Given the description of an element on the screen output the (x, y) to click on. 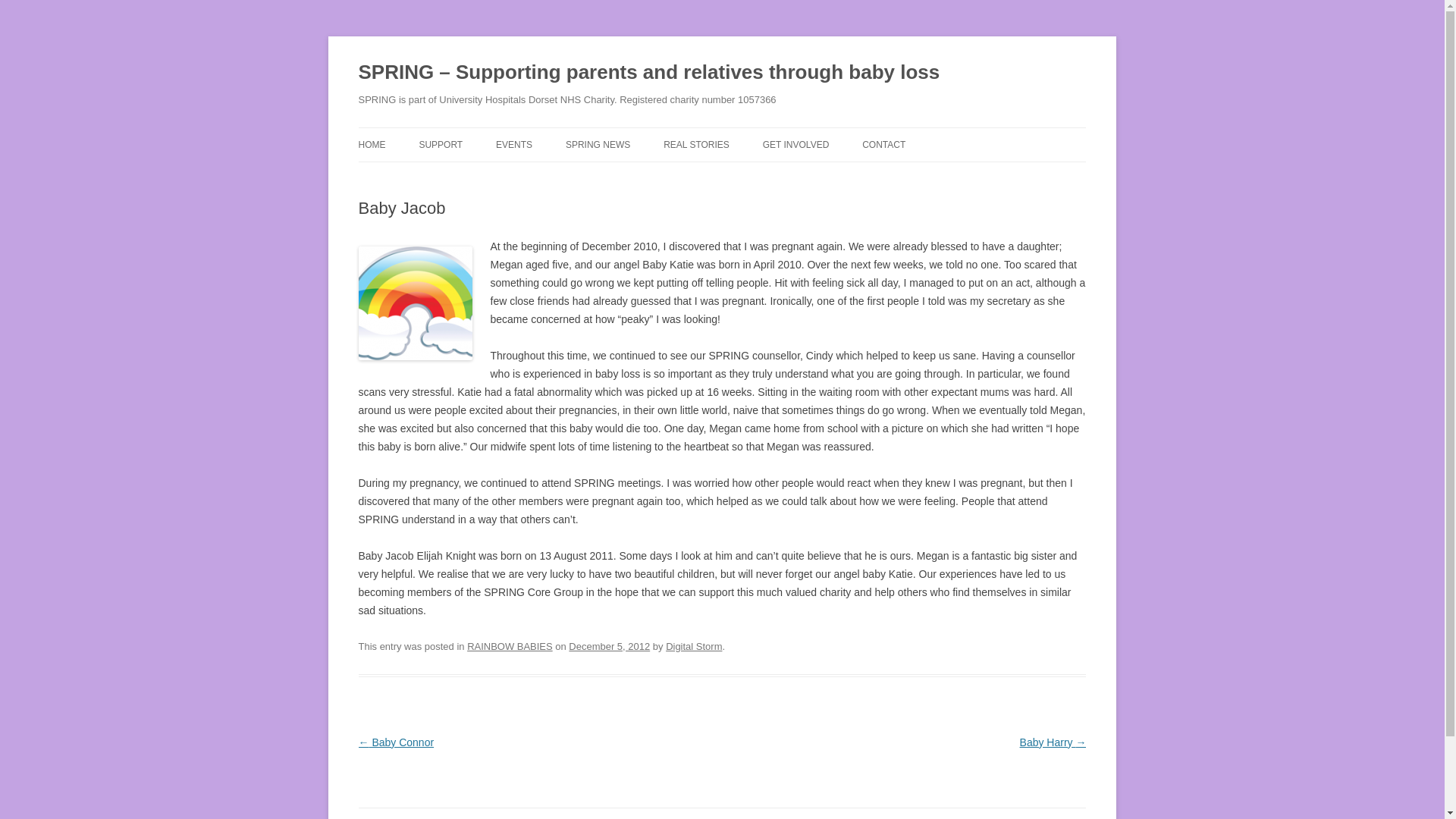
REAL STORIES (696, 144)
View all posts by Digital Storm (693, 645)
3:08 pm (609, 645)
SPRING NEWS (598, 144)
CONTACT (883, 144)
RAINBOW BABIES (510, 645)
GET INVOLVED (795, 144)
EVENTS (514, 144)
Digital Storm (693, 645)
SUPPORT (441, 144)
December 5, 2012 (609, 645)
BABY MILA (739, 176)
